Given the description of an element on the screen output the (x, y) to click on. 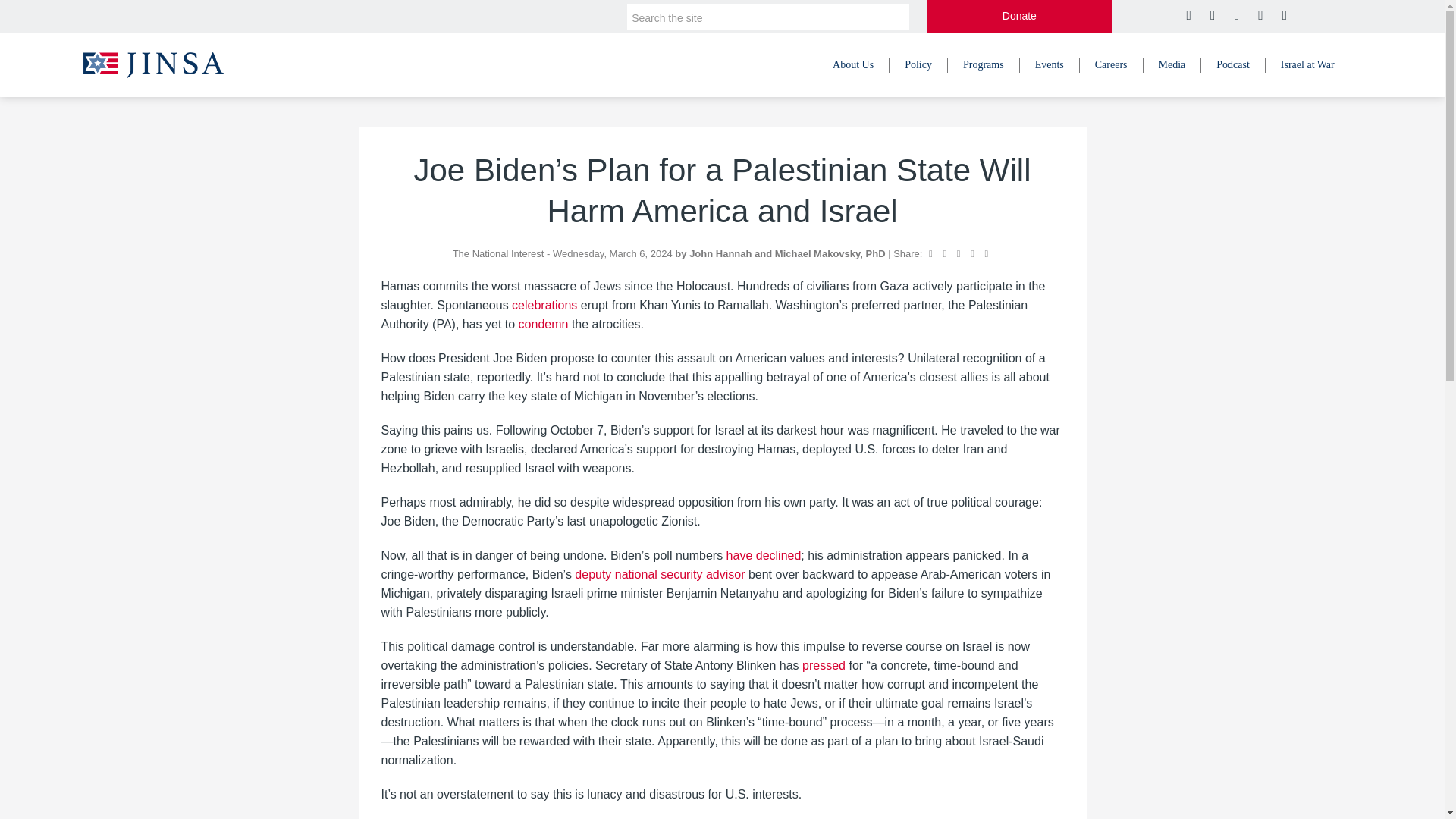
Careers (1111, 64)
Israel at War (1307, 64)
JINSA (153, 64)
Media (1172, 64)
celebrations (544, 305)
Michael Makovsky, PhD (831, 253)
Podcast (1233, 64)
About Us (852, 64)
rss (1283, 14)
twitter (1187, 14)
condemn (543, 323)
John Hannah (721, 253)
Events (1050, 64)
Donate (1019, 16)
facebook (1210, 14)
